Given the description of an element on the screen output the (x, y) to click on. 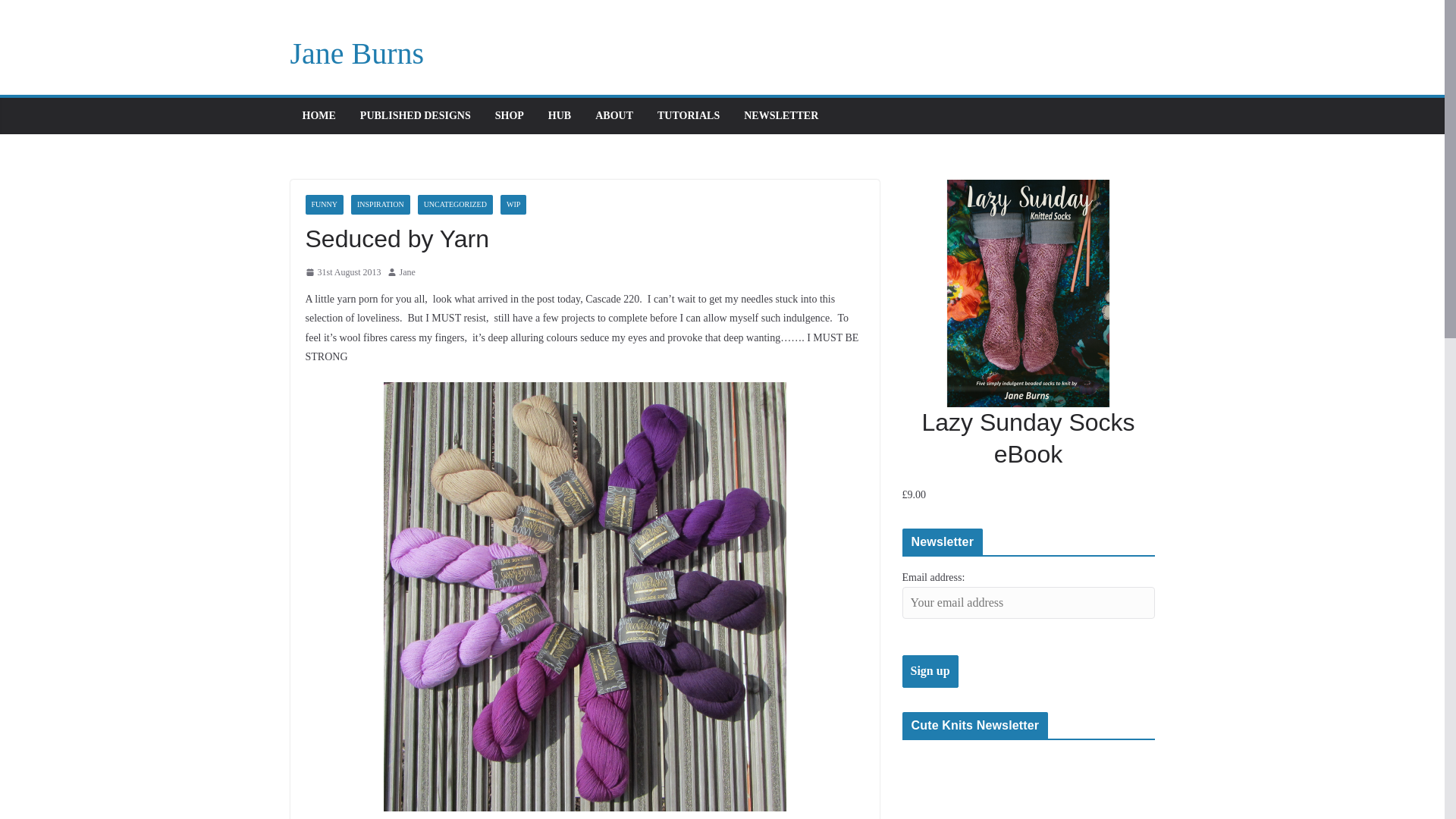
UNCATEGORIZED (455, 204)
TUTORIALS (688, 115)
INSPIRATION (380, 204)
Jane (406, 272)
Jane Burns (356, 53)
SHOP (509, 115)
Jane Burns (356, 53)
Sign up (930, 671)
ABOUT (614, 115)
PUBLISHED DESIGNS (414, 115)
31st August 2013 (342, 272)
NEWSLETTER (781, 115)
Sign up (930, 671)
WIP (512, 204)
4:19 pm (342, 272)
